Given the description of an element on the screen output the (x, y) to click on. 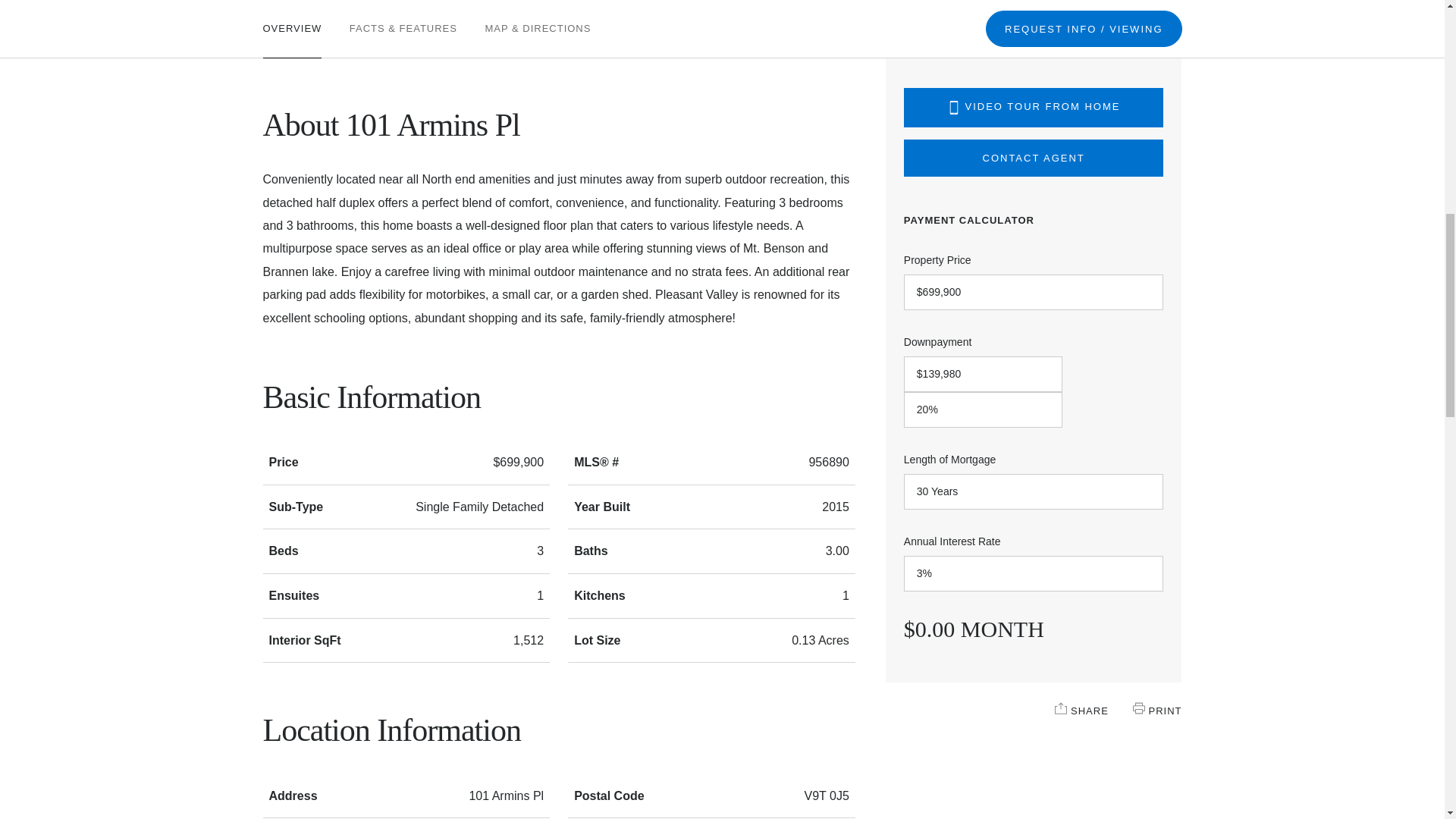
30 Years (1033, 491)
SHARE (1060, 707)
MOBILE ICON (953, 107)
PRINT (1138, 707)
